Given the description of an element on the screen output the (x, y) to click on. 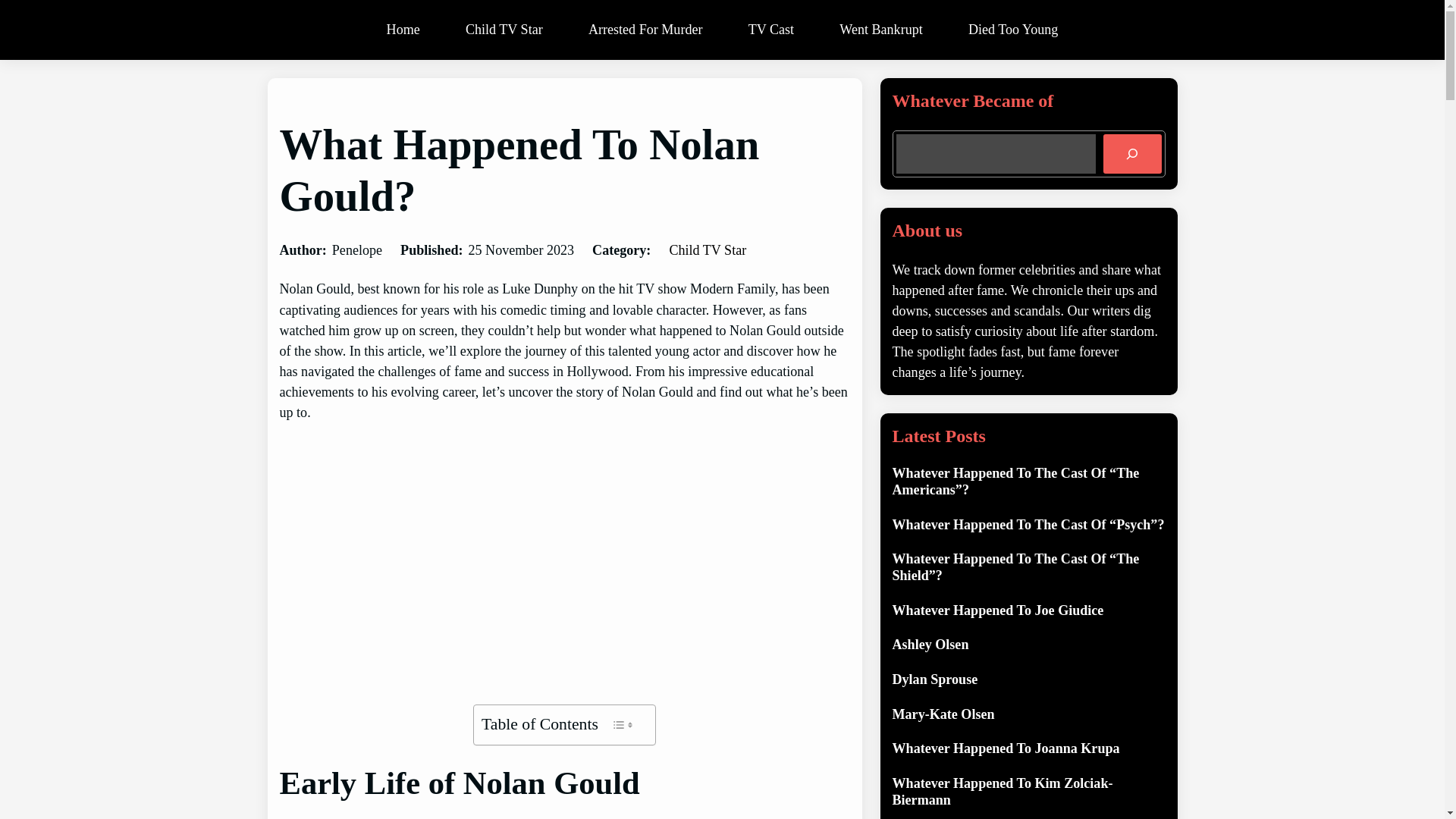
Child TV Star (503, 29)
TV Cast (771, 29)
Died Too Young (1013, 29)
Arrested For Murder (645, 29)
Child TV Star (706, 249)
Went Bankrupt (880, 29)
Home (402, 29)
